Given the description of an element on the screen output the (x, y) to click on. 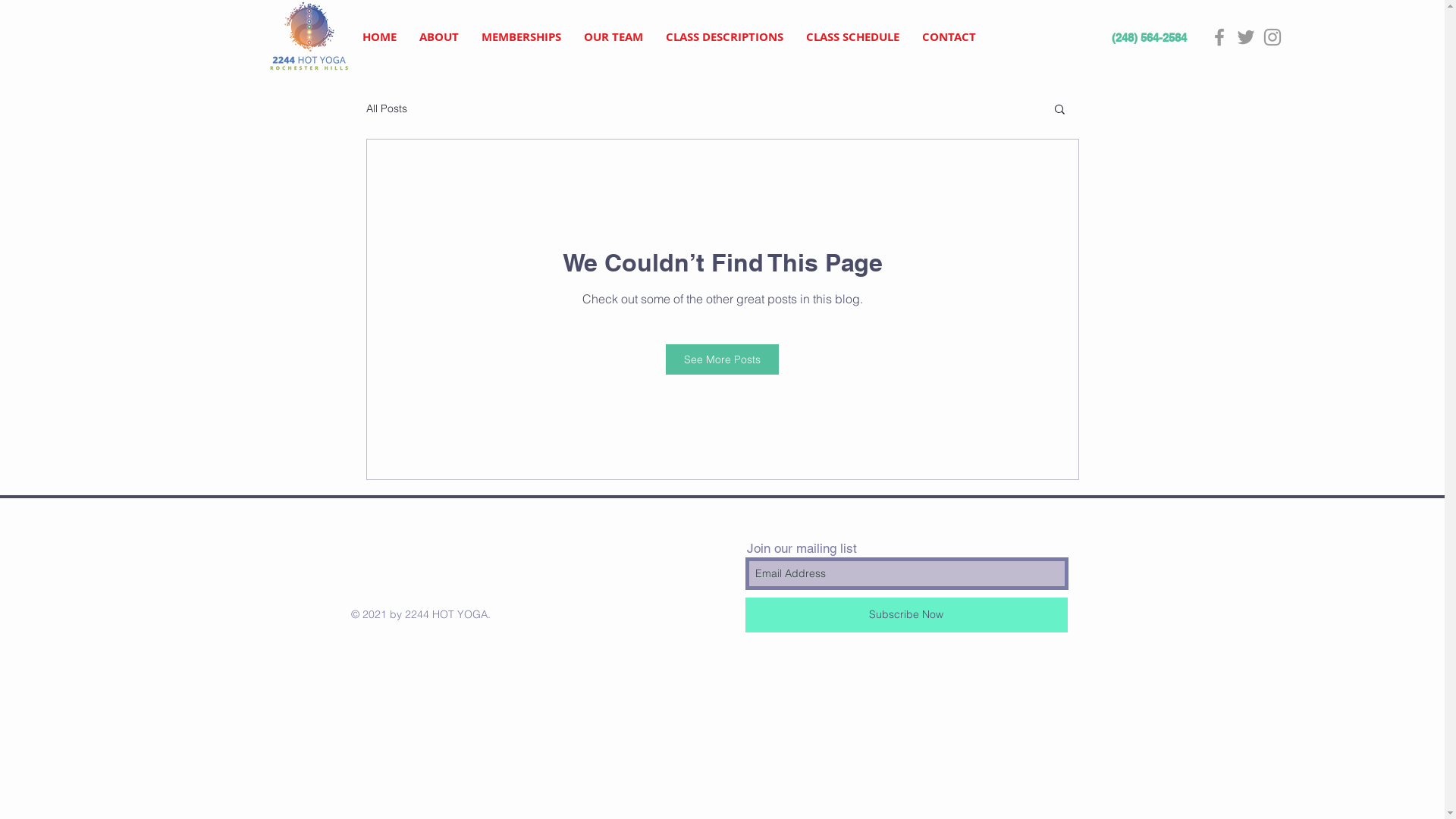
CLASS DESCRIPTIONS Element type: text (723, 36)
OUR TEAM Element type: text (612, 36)
CLASS SCHEDULE Element type: text (852, 36)
See More Posts Element type: text (721, 359)
MEMBERSHIPS Element type: text (521, 36)
CONTACT Element type: text (948, 36)
Subscribe Now Element type: text (905, 614)
All Posts Element type: text (385, 108)
HOME Element type: text (378, 36)
ABOUT Element type: text (438, 36)
